Given the description of an element on the screen output the (x, y) to click on. 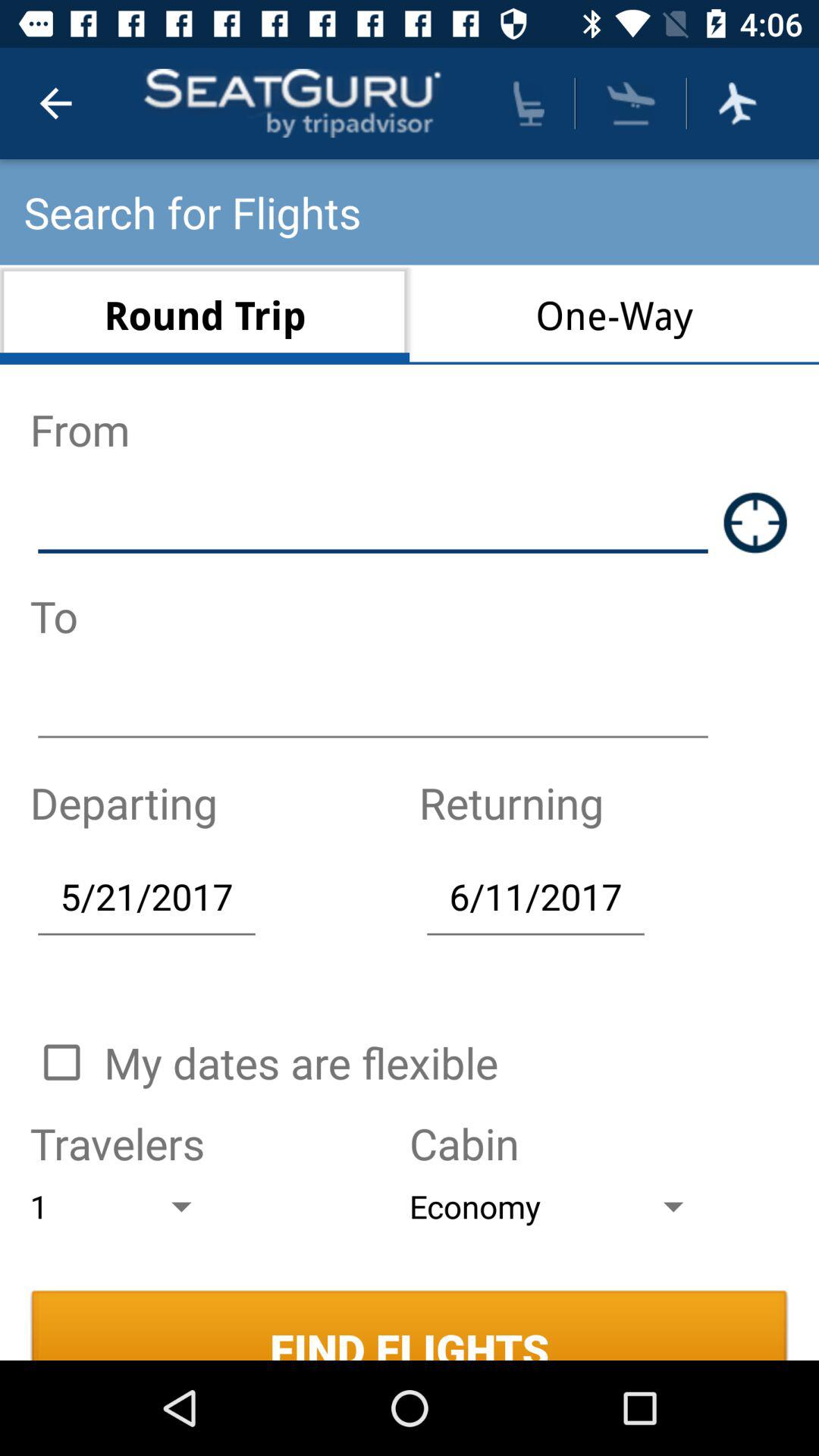
opens up seating options (528, 103)
